Given the description of an element on the screen output the (x, y) to click on. 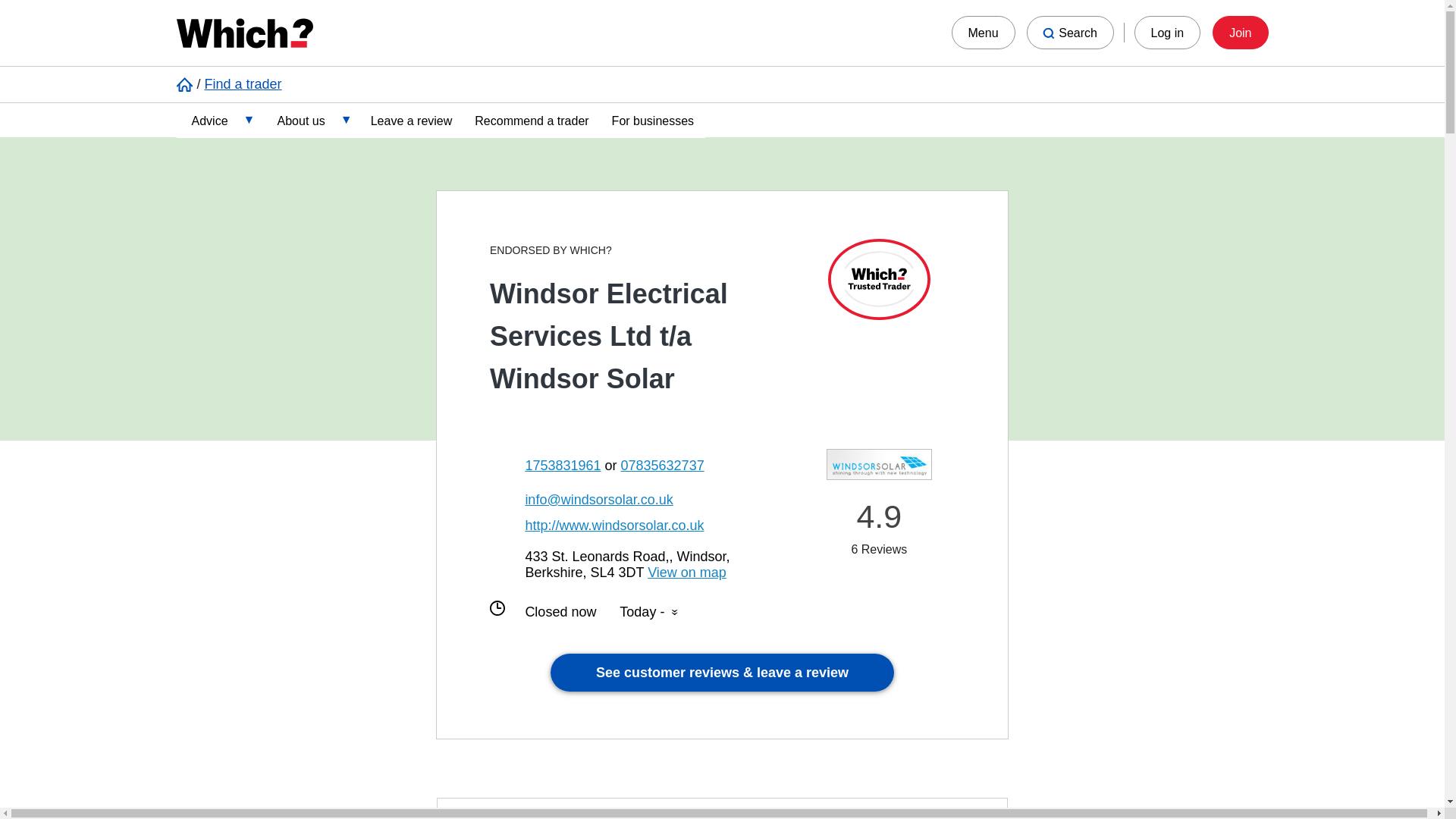
Design (284, 199)
Advice (219, 119)
Log in (1167, 32)
Gardening (284, 239)
Join (1240, 32)
Find a trader (243, 83)
Click to see all opening hours (649, 611)
General information (284, 279)
Hiring a trader (284, 319)
Search (1069, 32)
Menu (983, 32)
Cost guide (284, 159)
